Given the description of an element on the screen output the (x, y) to click on. 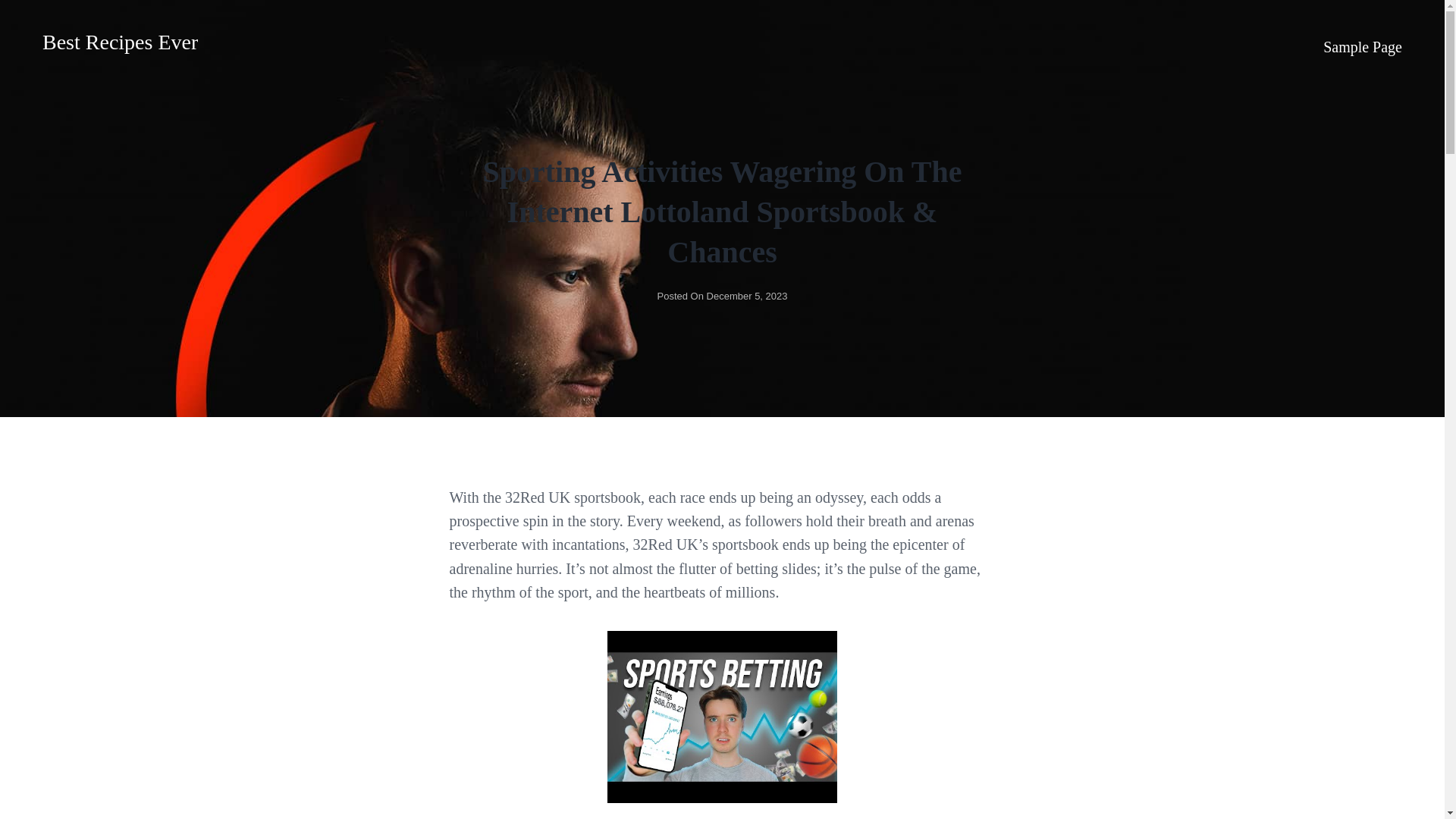
Sample Page (1361, 46)
Best Recipes Ever (120, 42)
Posted On December 5, 2023 (721, 296)
